Given the description of an element on the screen output the (x, y) to click on. 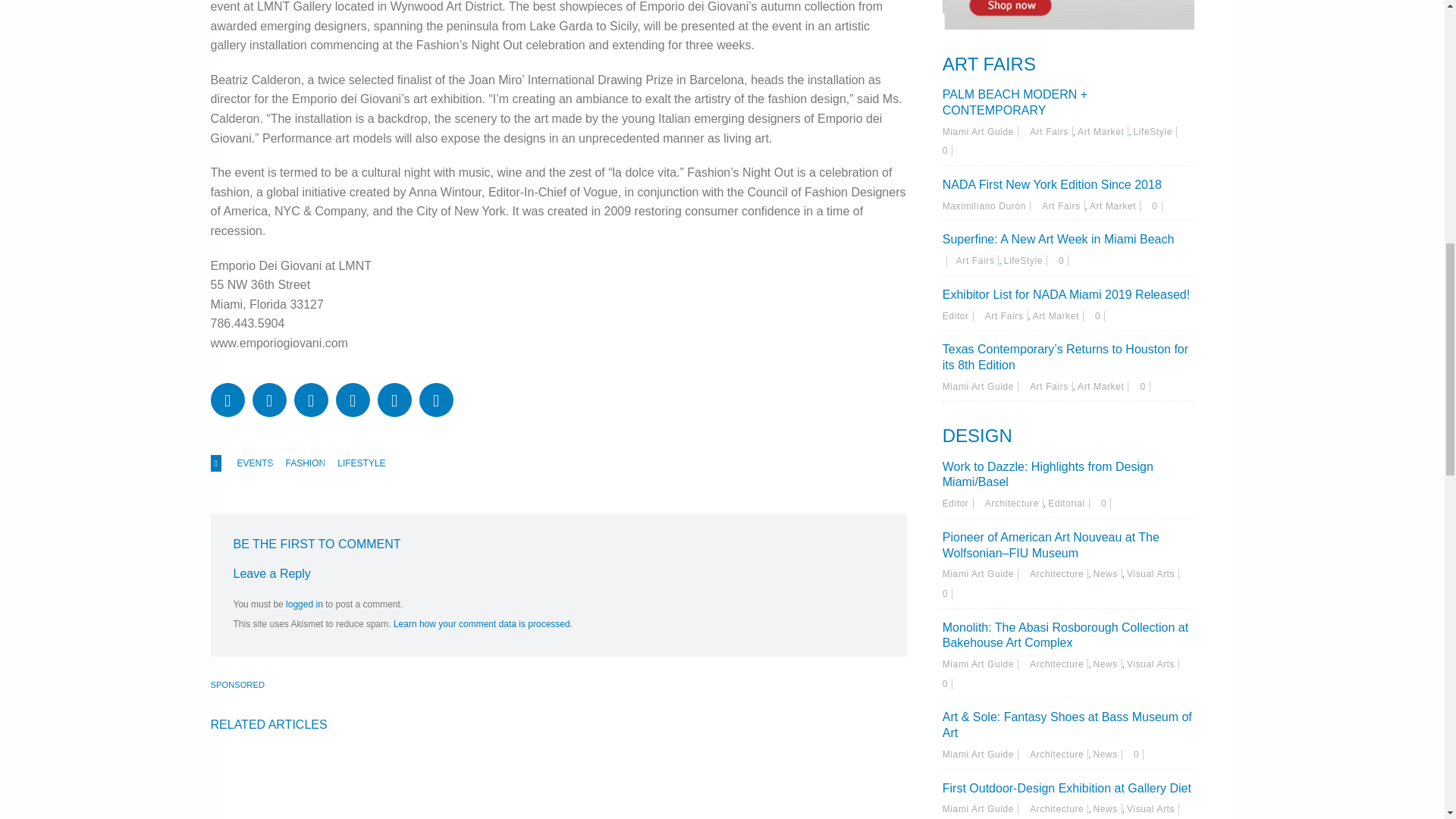
0 (1063, 260)
A Taste of Out in the Tropics (543, 783)
Global Cuba Fest (315, 783)
0 (1105, 502)
0 (947, 150)
0 (1156, 205)
0 (947, 593)
0 (1145, 386)
0 (1099, 316)
0 (1138, 754)
0 (947, 683)
